Given the description of an element on the screen output the (x, y) to click on. 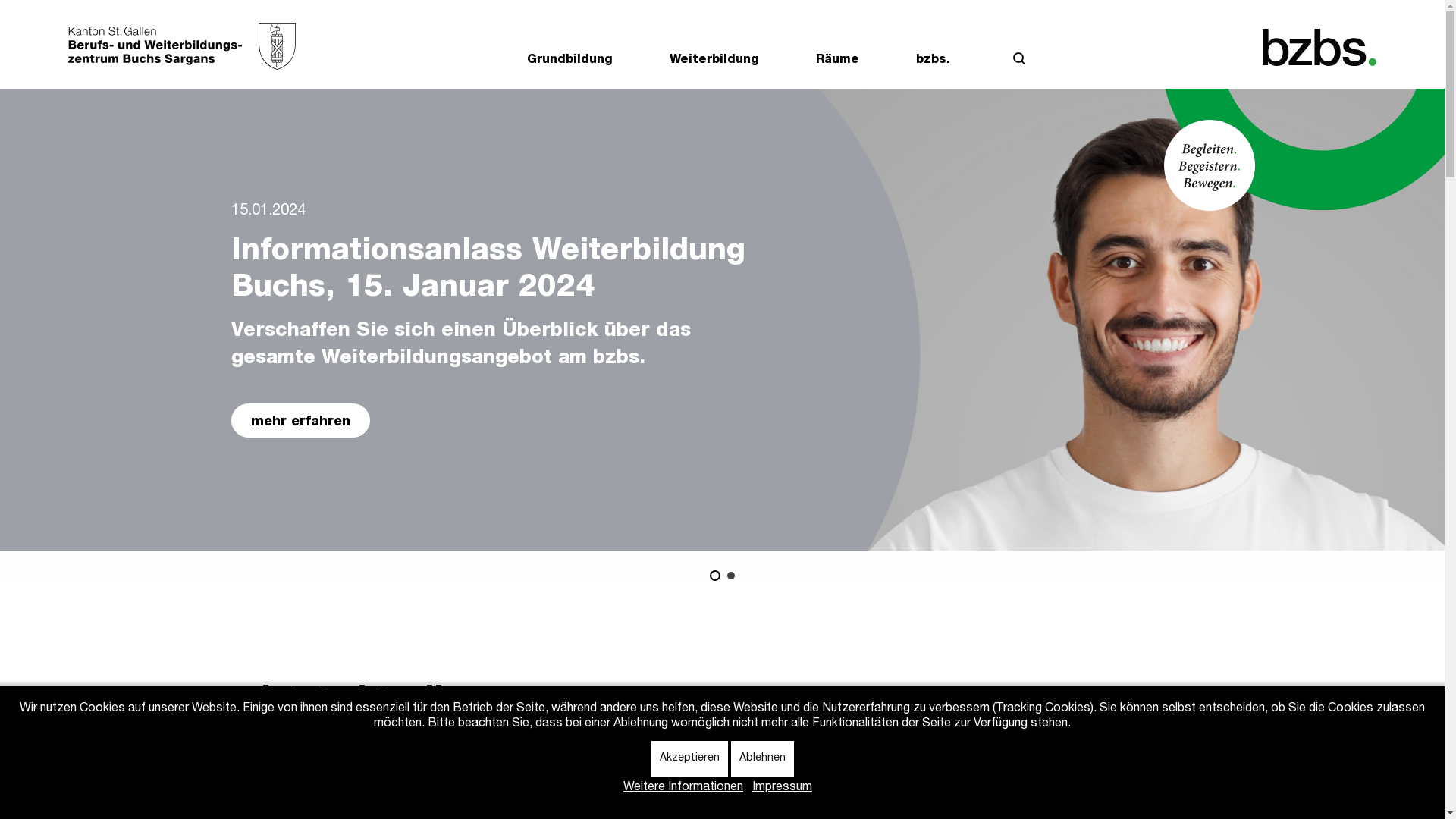
bzbs. Element type: text (932, 63)
1 Element type: text (714, 575)
Suchen Element type: text (1018, 61)
Grundbildung Element type: text (569, 63)
Weiterbildung Element type: text (714, 63)
Weitere Informationen Element type: text (683, 787)
Akzeptieren Element type: text (688, 758)
Impressum Element type: text (782, 787)
Ablehnen Element type: text (762, 758)
2 Element type: text (730, 575)
